Given the description of an element on the screen output the (x, y) to click on. 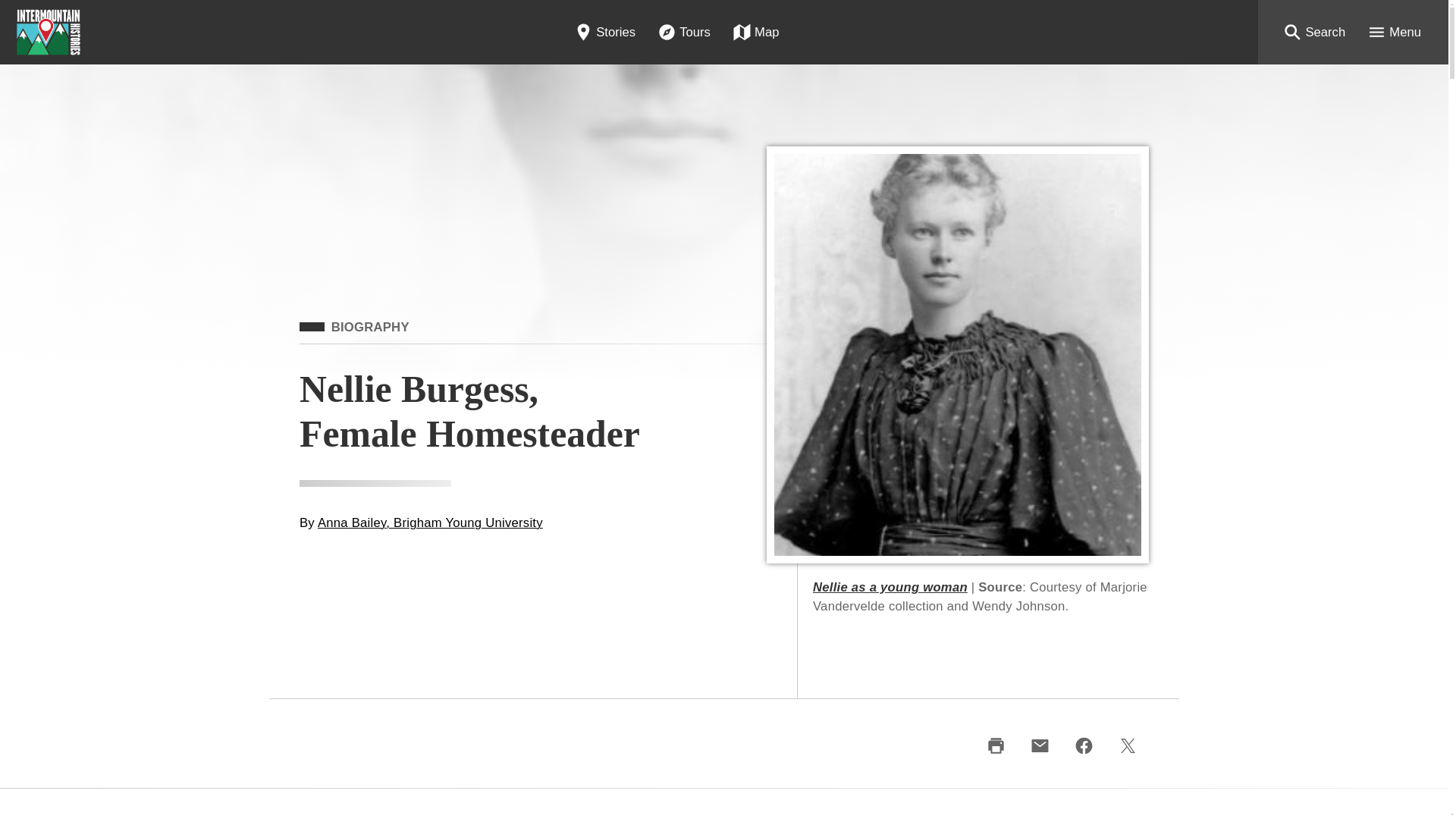
Anna Bailey, Brigham Young University (430, 522)
Menu (1393, 31)
Subject: Biography (354, 327)
Search (1313, 31)
BIOGRAPHY (354, 327)
print (995, 745)
Stories (604, 31)
email (1039, 745)
Tours (683, 31)
Nellie as a young woman (890, 586)
